Given the description of an element on the screen output the (x, y) to click on. 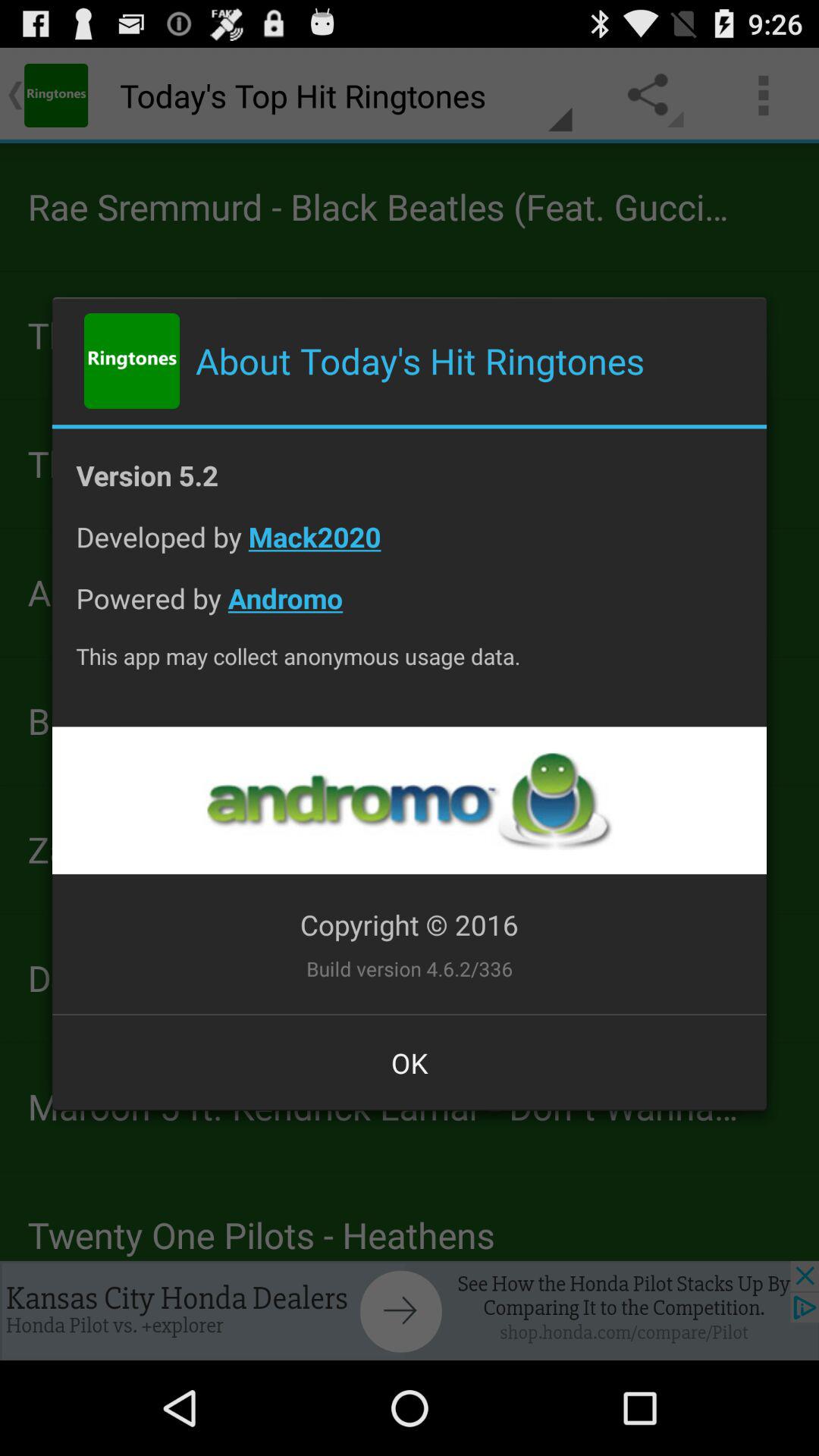
turn off powered by andromo item (409, 609)
